Given the description of an element on the screen output the (x, y) to click on. 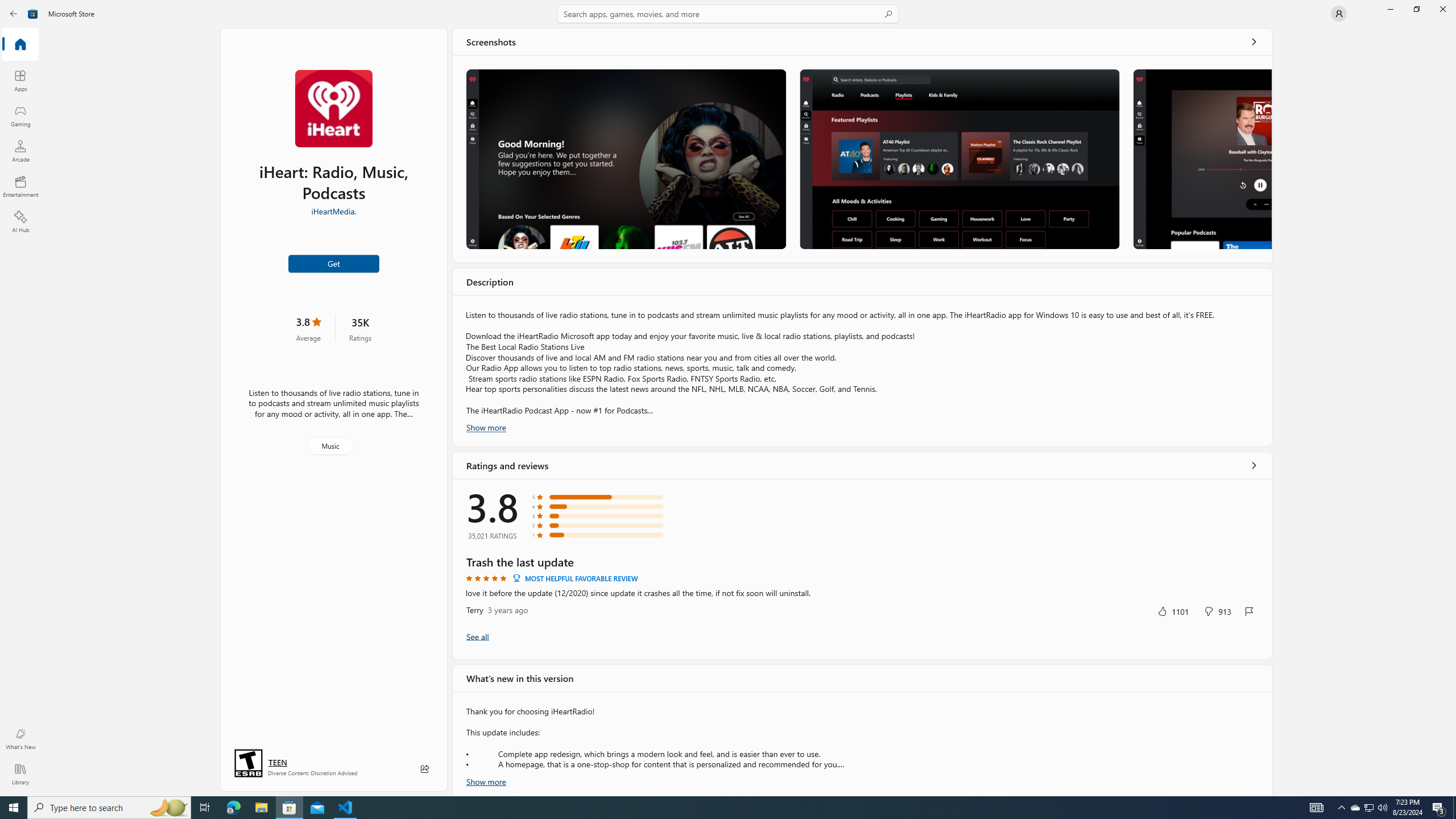
Home (20, 45)
Library (20, 773)
Show all ratings and reviews (477, 636)
